Given the description of an element on the screen output the (x, y) to click on. 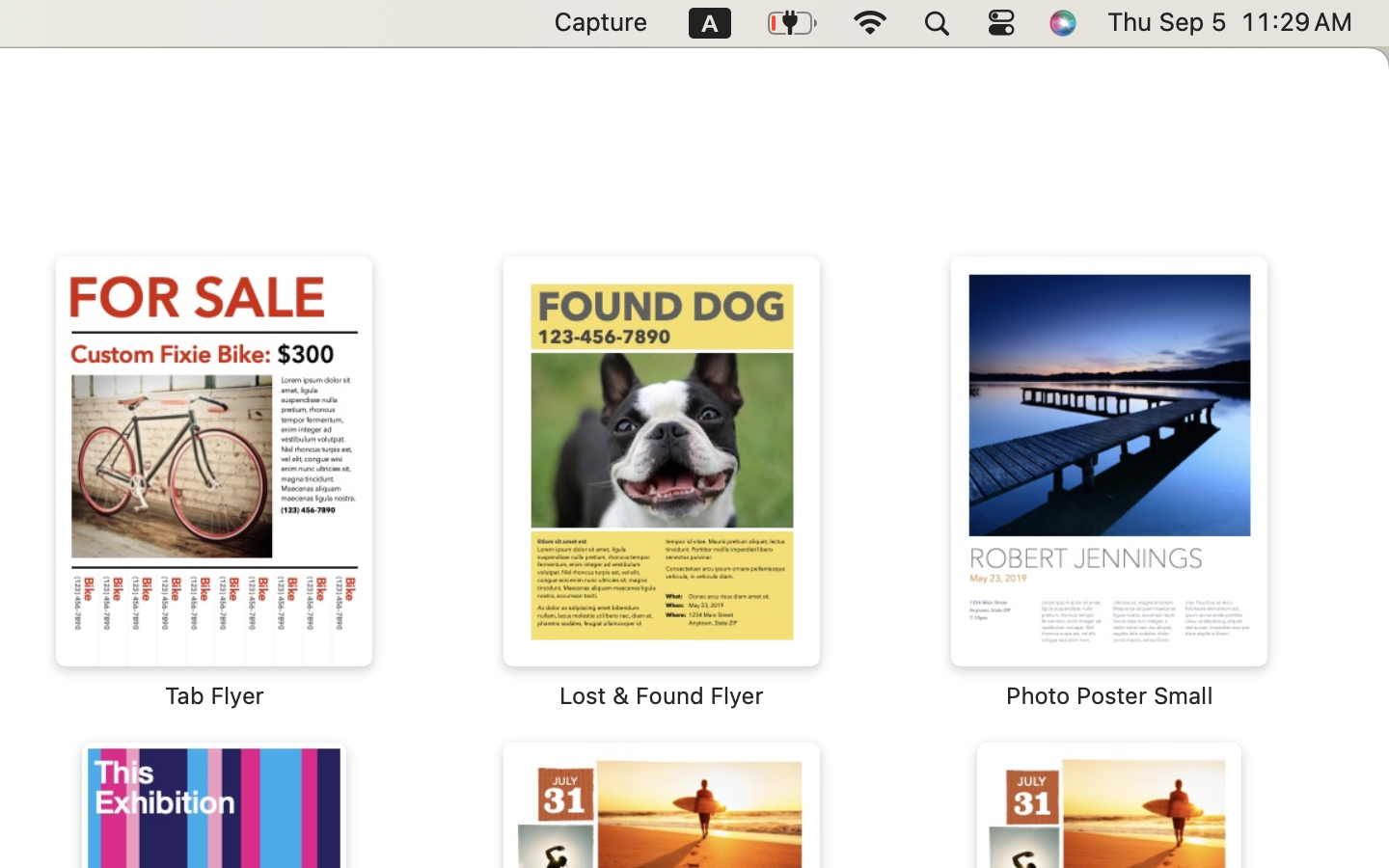
‎⁨Lost & Found Flyer⁩ Element type: AXButton (661, 483)
‎⁨Photo Poster Small⁩ Element type: AXButton (1109, 483)
